Given the description of an element on the screen output the (x, y) to click on. 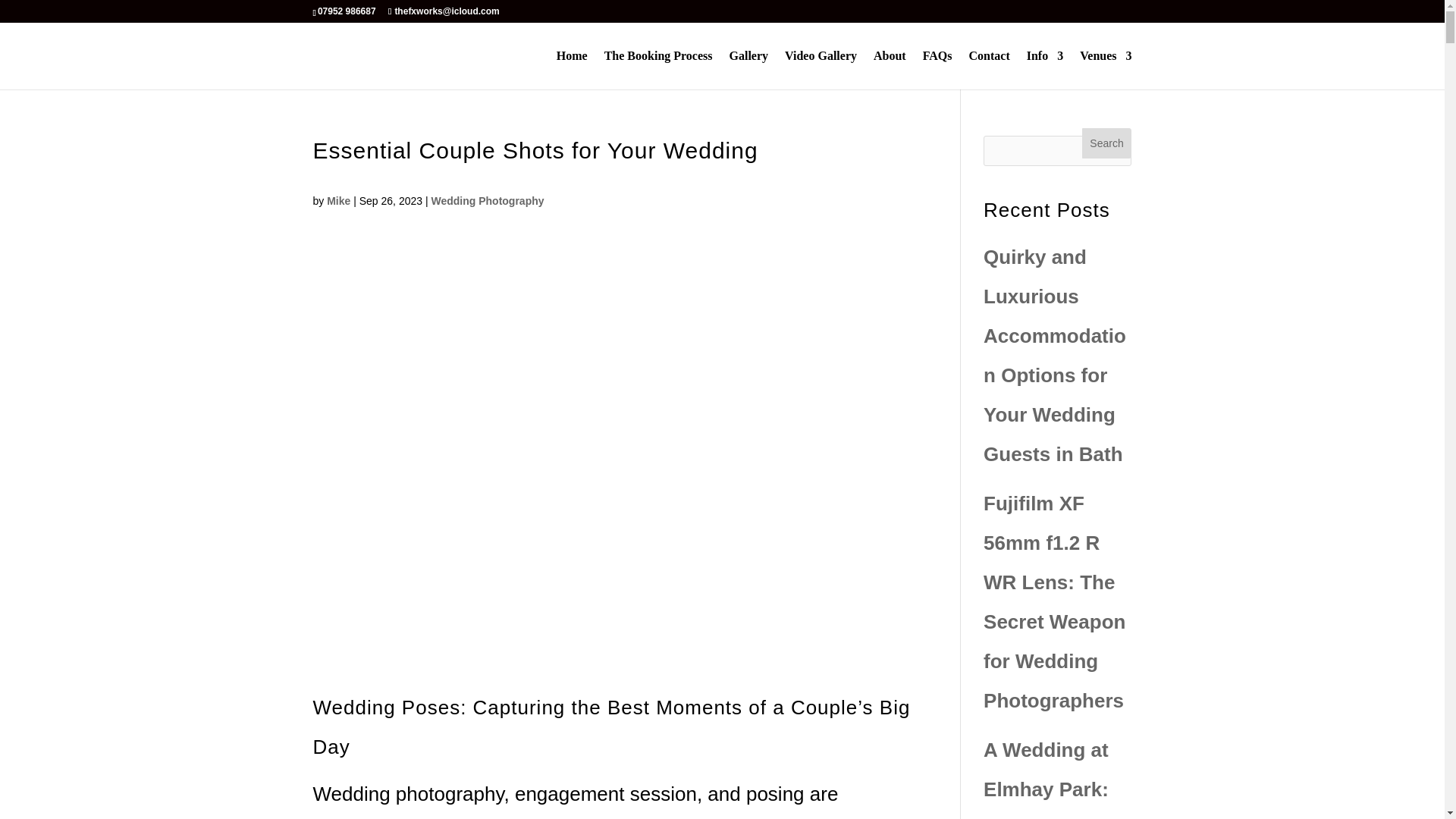
Gallery (748, 69)
Posts by Mike (338, 200)
Info (1044, 69)
The Booking Process (658, 69)
Venues (1105, 69)
Contact (989, 69)
Video Gallery (820, 69)
